Given the description of an element on the screen output the (x, y) to click on. 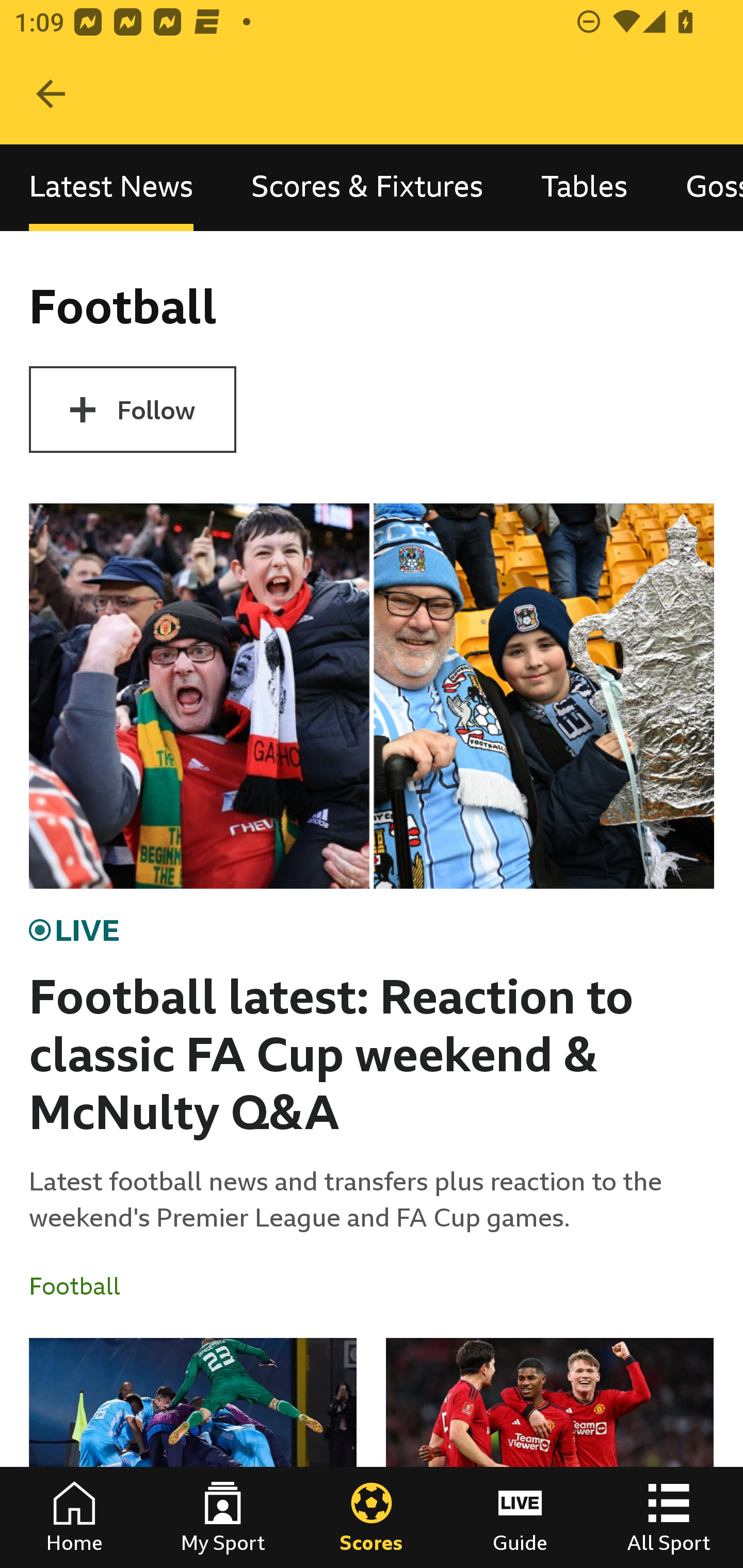
Navigate up (50, 93)
Latest News, selected Latest News (111, 187)
Scores & Fixtures (367, 187)
Tables (584, 187)
Gossip (699, 187)
Follow Football Follow (132, 409)
Liverpool win could be turning point - Ten Hag (549, 1452)
Home (74, 1517)
My Sport (222, 1517)
Guide (519, 1517)
All Sport (668, 1517)
